Given the description of an element on the screen output the (x, y) to click on. 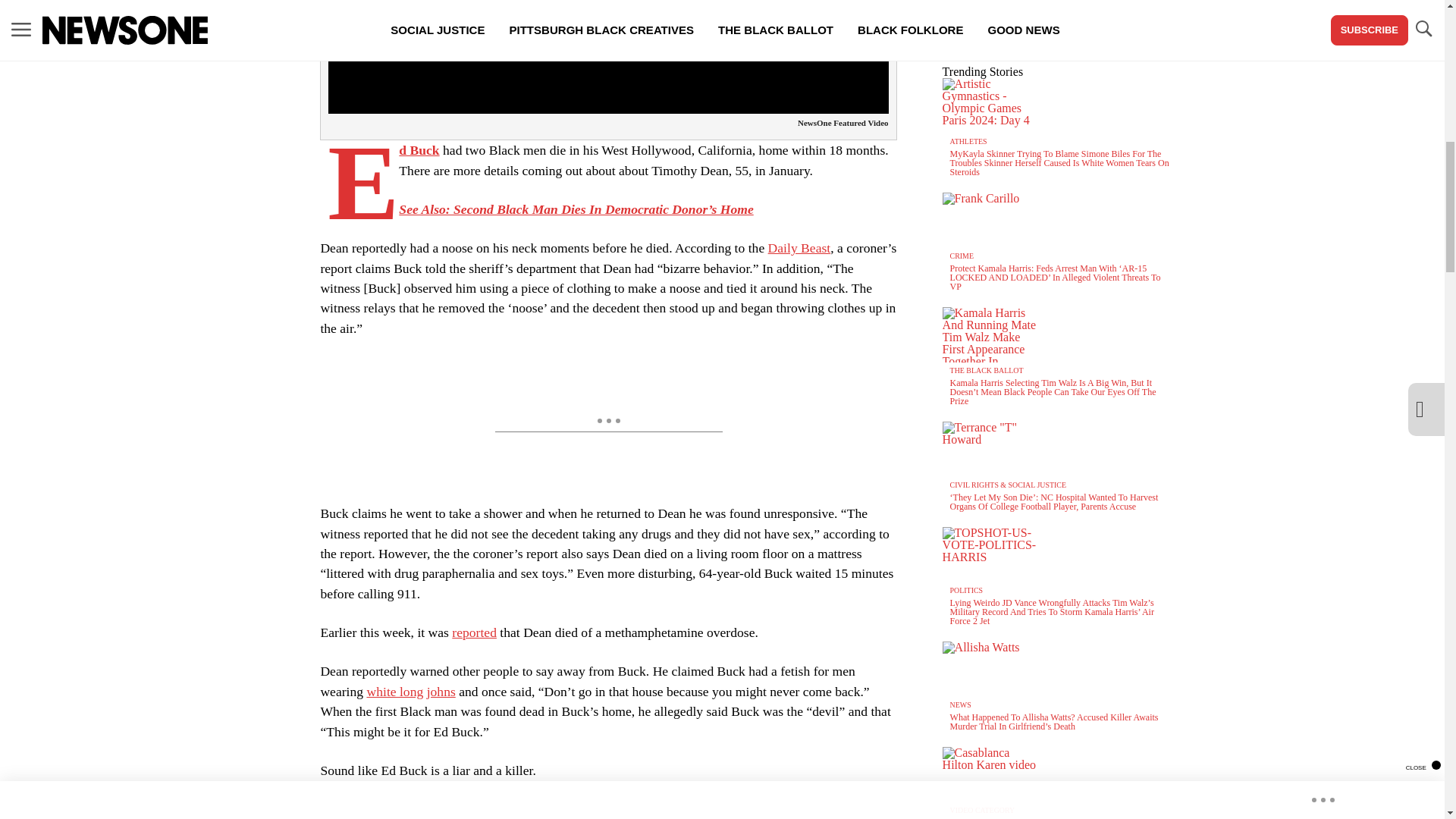
Daily Beast (418, 150)
white long johns (799, 247)
reported (410, 691)
